Given the description of an element on the screen output the (x, y) to click on. 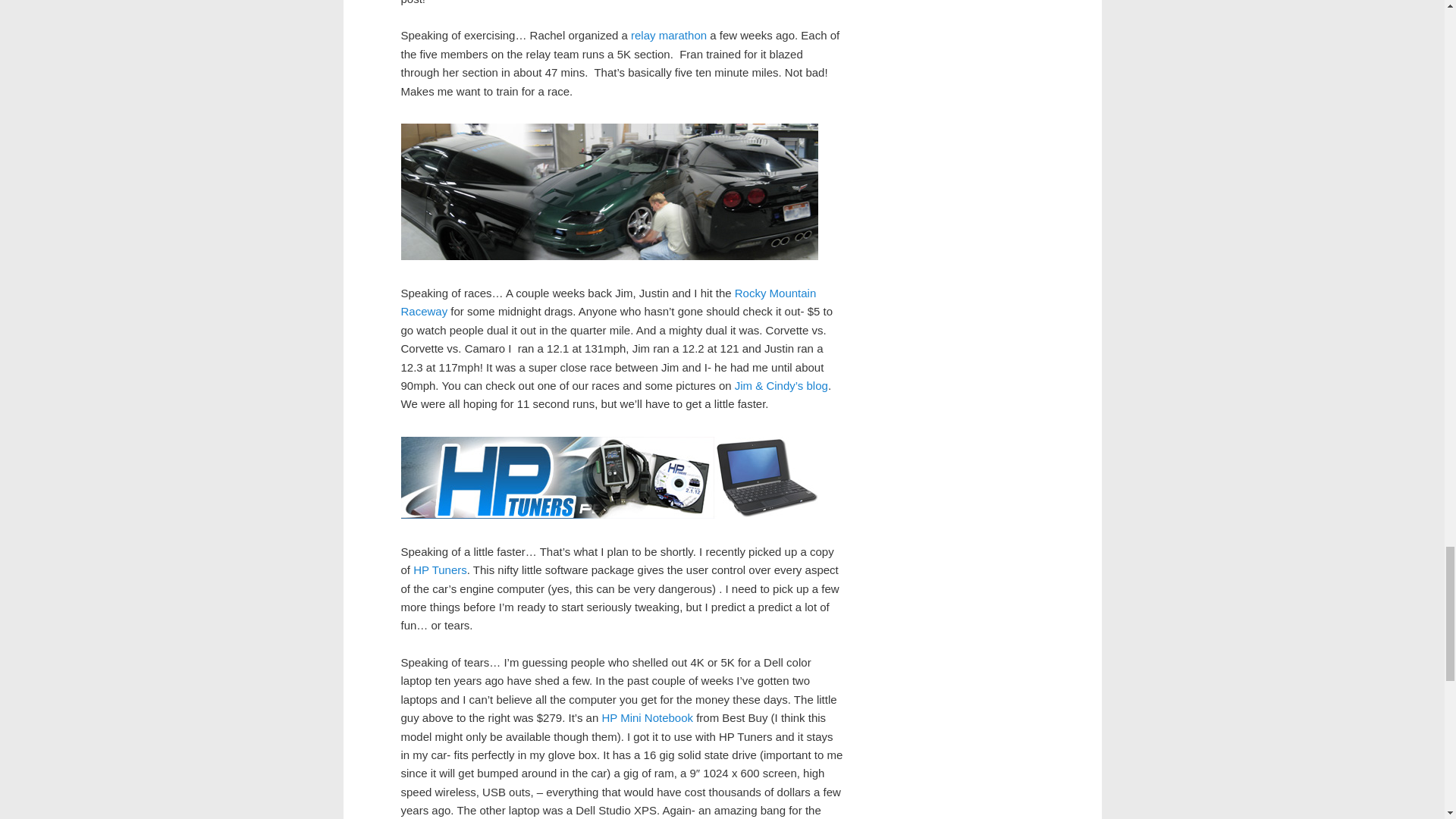
HP Tuners (440, 569)
relay marathon (668, 34)
Rocky Mountain Raceway (607, 301)
HP Mini Notebook (647, 717)
